Given the description of an element on the screen output the (x, y) to click on. 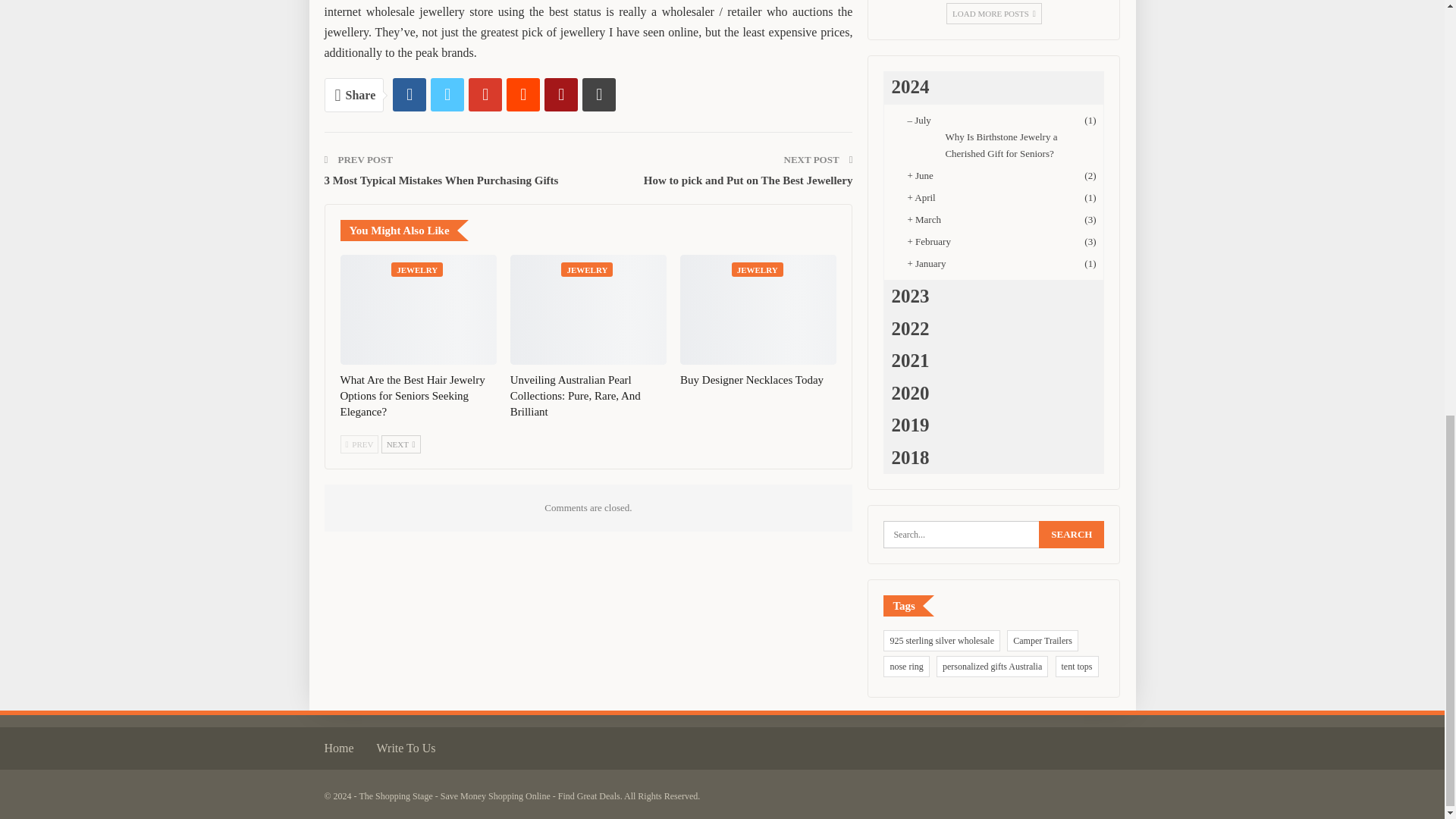
Next (400, 443)
Search (1071, 533)
JEWELRY (416, 269)
You Might Also Like (403, 229)
Buy Designer Necklaces Today (751, 379)
3 Most Typical Mistakes When Purchasing Gifts (441, 180)
Buy Designer Necklaces Today (757, 308)
Previous (358, 443)
How to pick and Put on The Best Jewellery (748, 180)
JEWELRY (586, 269)
Search (1071, 533)
